Given the description of an element on the screen output the (x, y) to click on. 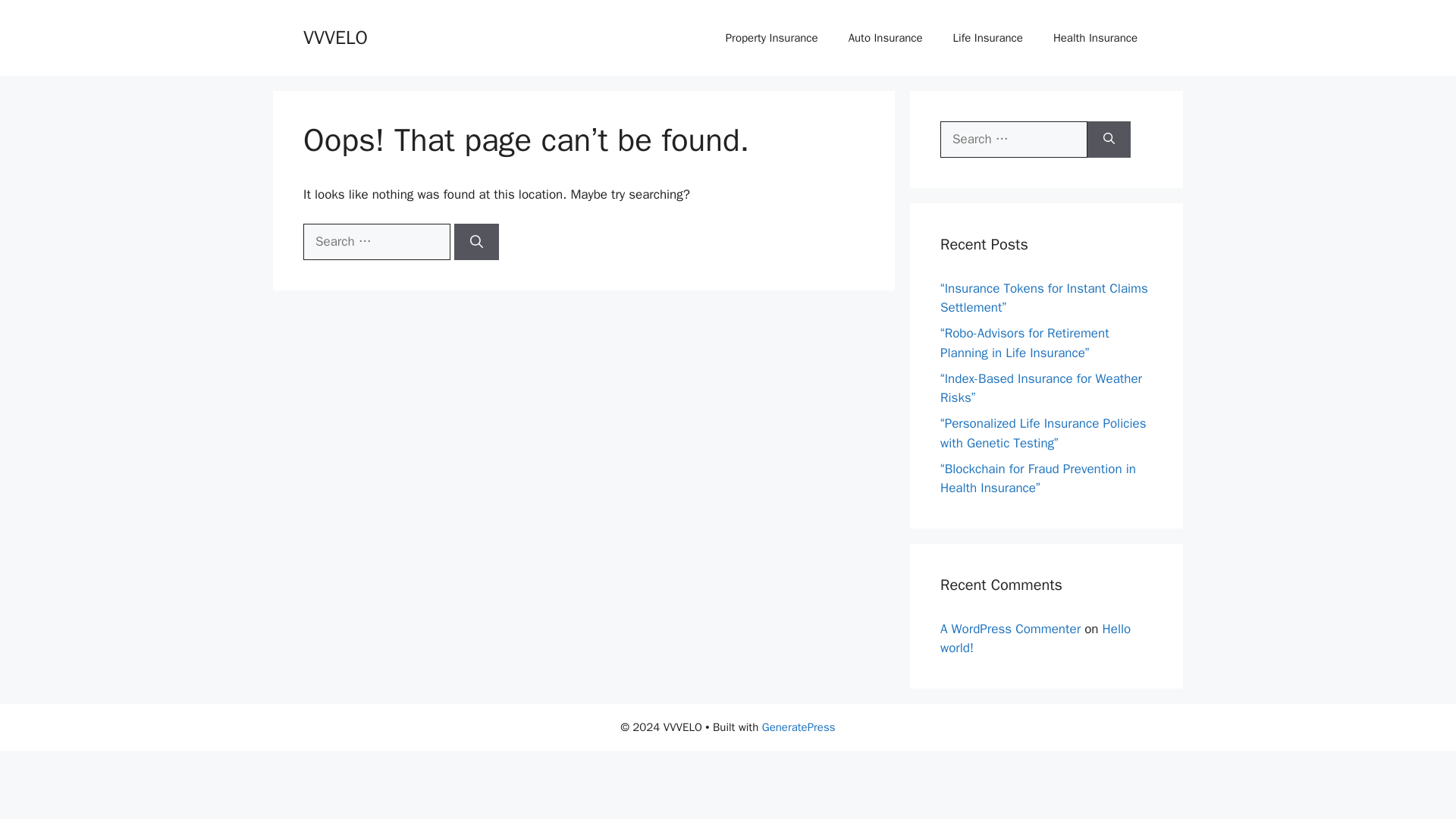
Life Insurance (987, 37)
Search for: (375, 241)
A WordPress Commenter (1010, 627)
Property Insurance (771, 37)
Search for: (1013, 139)
GeneratePress (798, 726)
Auto Insurance (884, 37)
VVVELO (335, 37)
Health Insurance (1095, 37)
Hello world! (1035, 637)
